Given the description of an element on the screen output the (x, y) to click on. 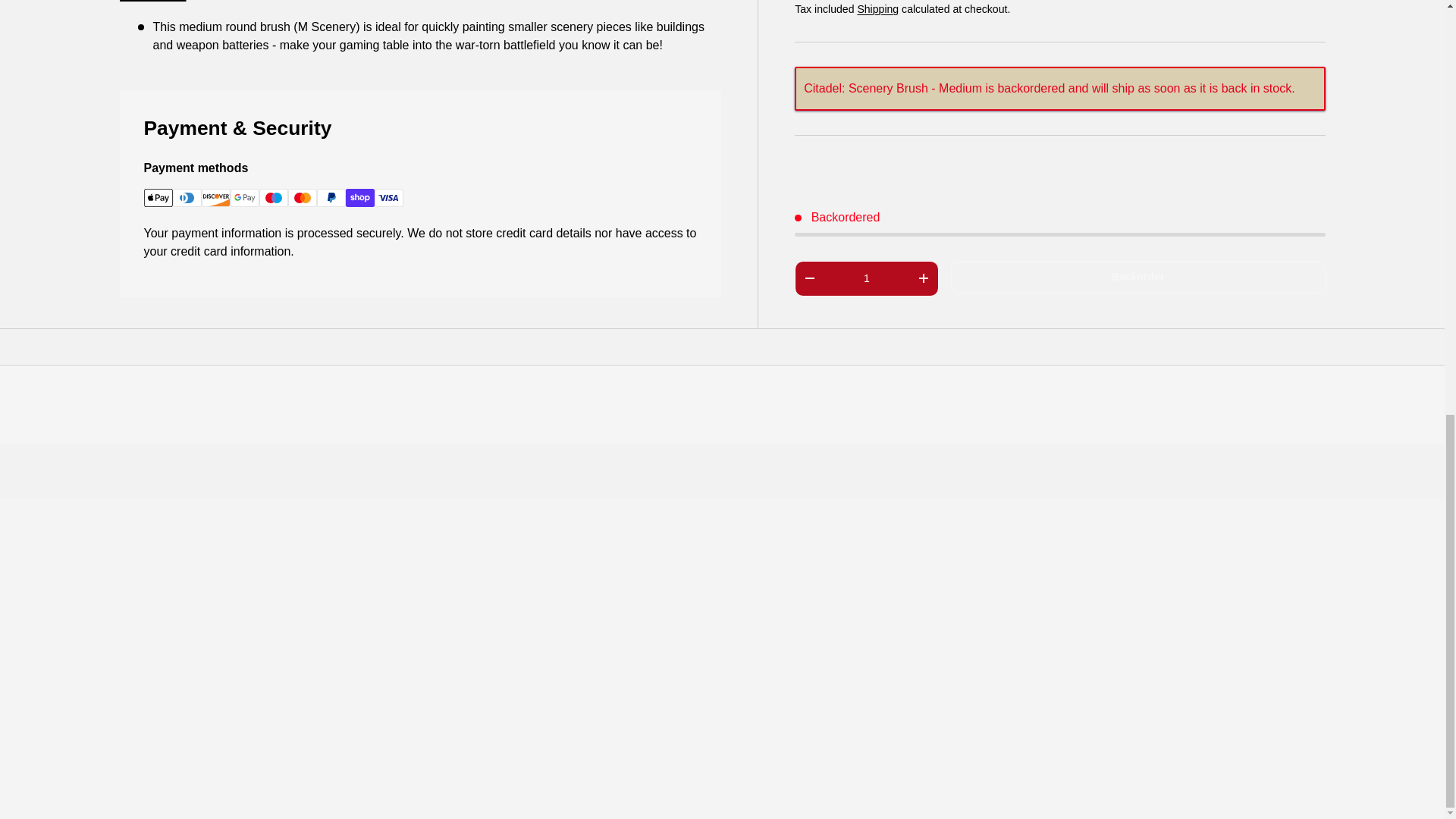
Discover (216, 198)
Mastercard (302, 198)
Google Pay (244, 198)
Shop Pay (360, 198)
Diners Club (187, 198)
Apple Pay (158, 198)
PayPal (331, 198)
Maestro (273, 198)
